Given the description of an element on the screen output the (x, y) to click on. 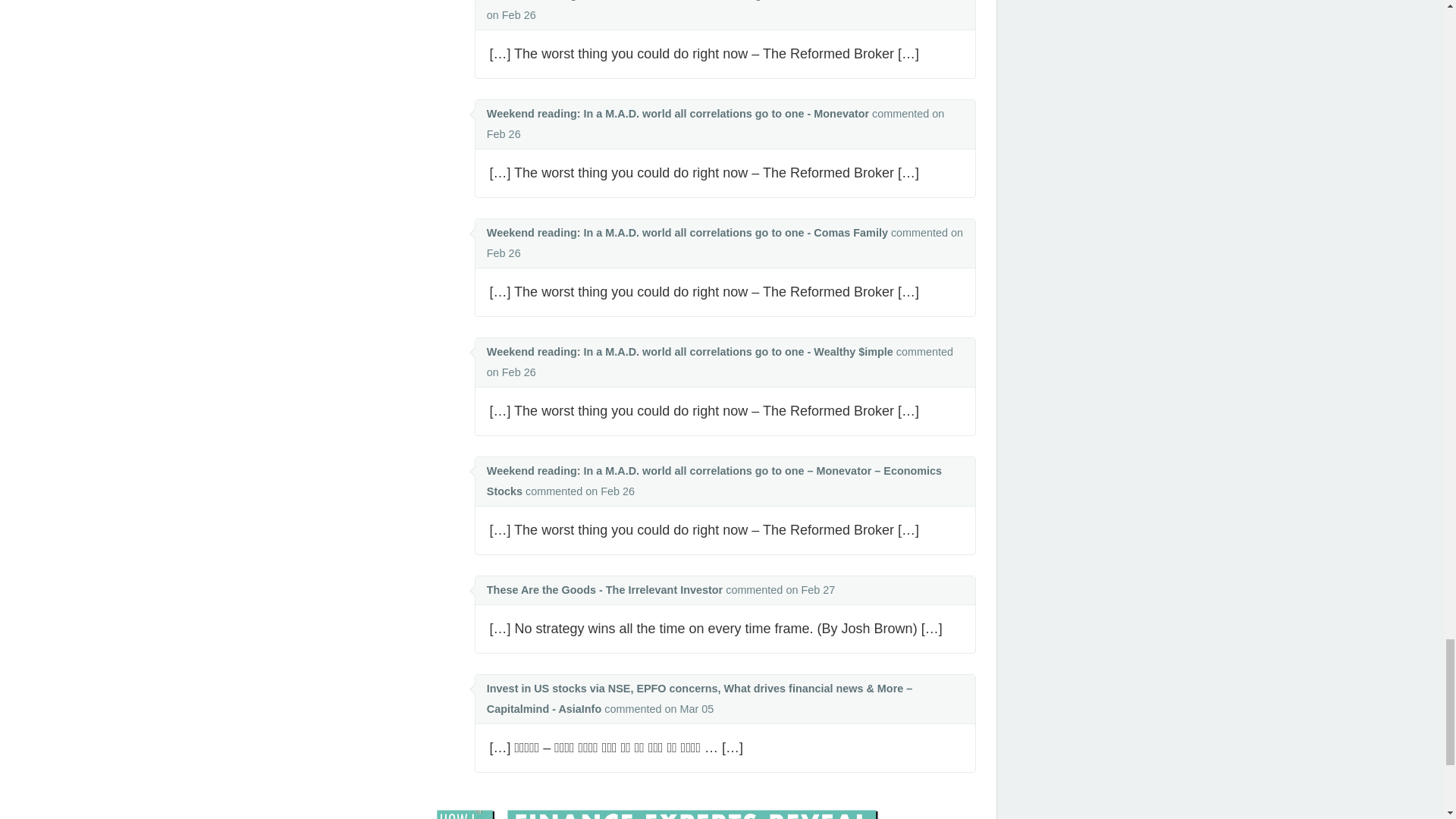
These Are the Goods - The Irrelevant Investor (604, 589)
